Given the description of an element on the screen output the (x, y) to click on. 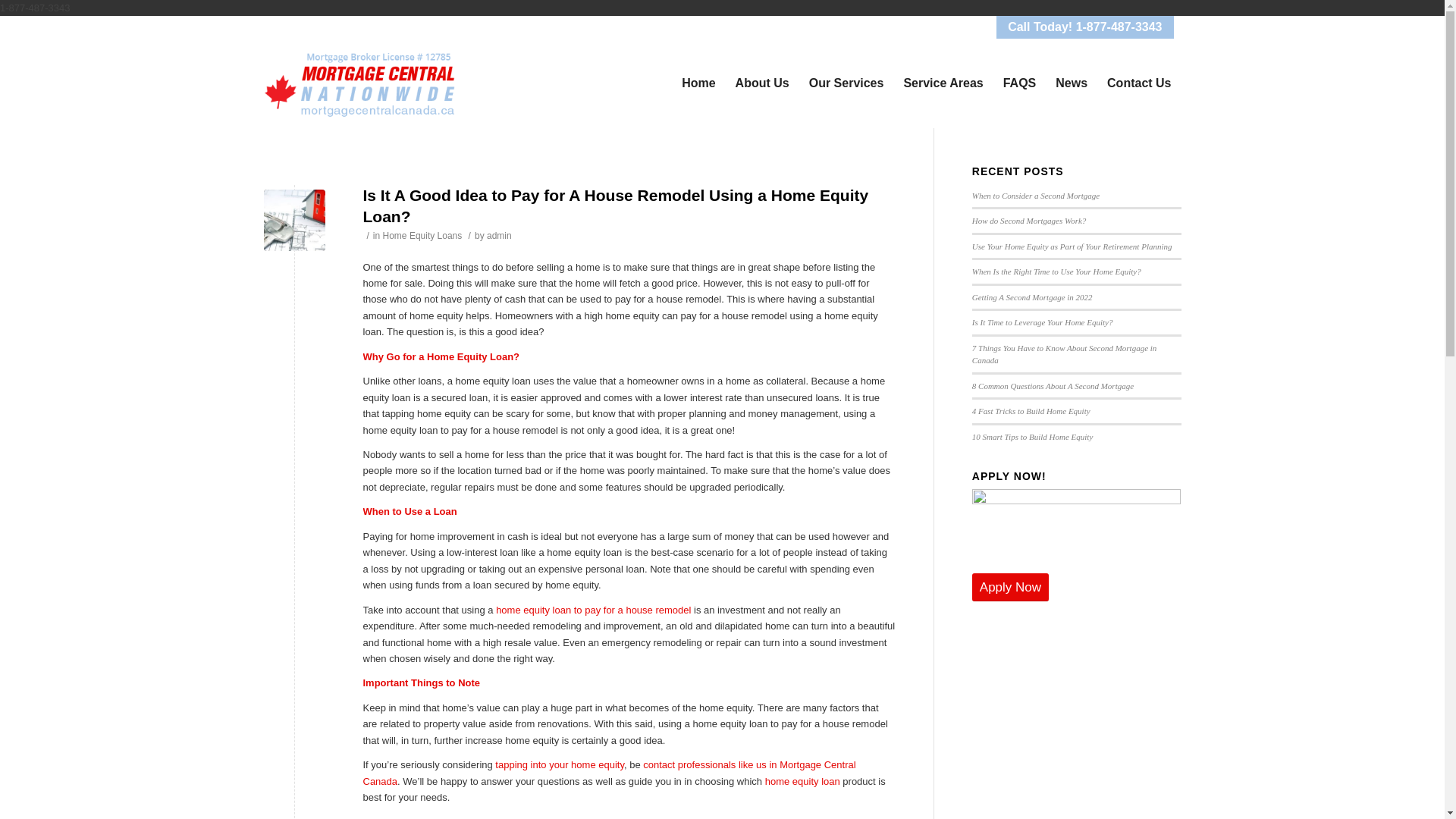
Home Equity Loans (422, 235)
contact professionals like us in Mortgage Central Canada (609, 772)
tapping into your home equity (559, 764)
home equity loan (802, 781)
Contact Us (1138, 83)
Our Services (846, 83)
admin (499, 235)
